Given the description of an element on the screen output the (x, y) to click on. 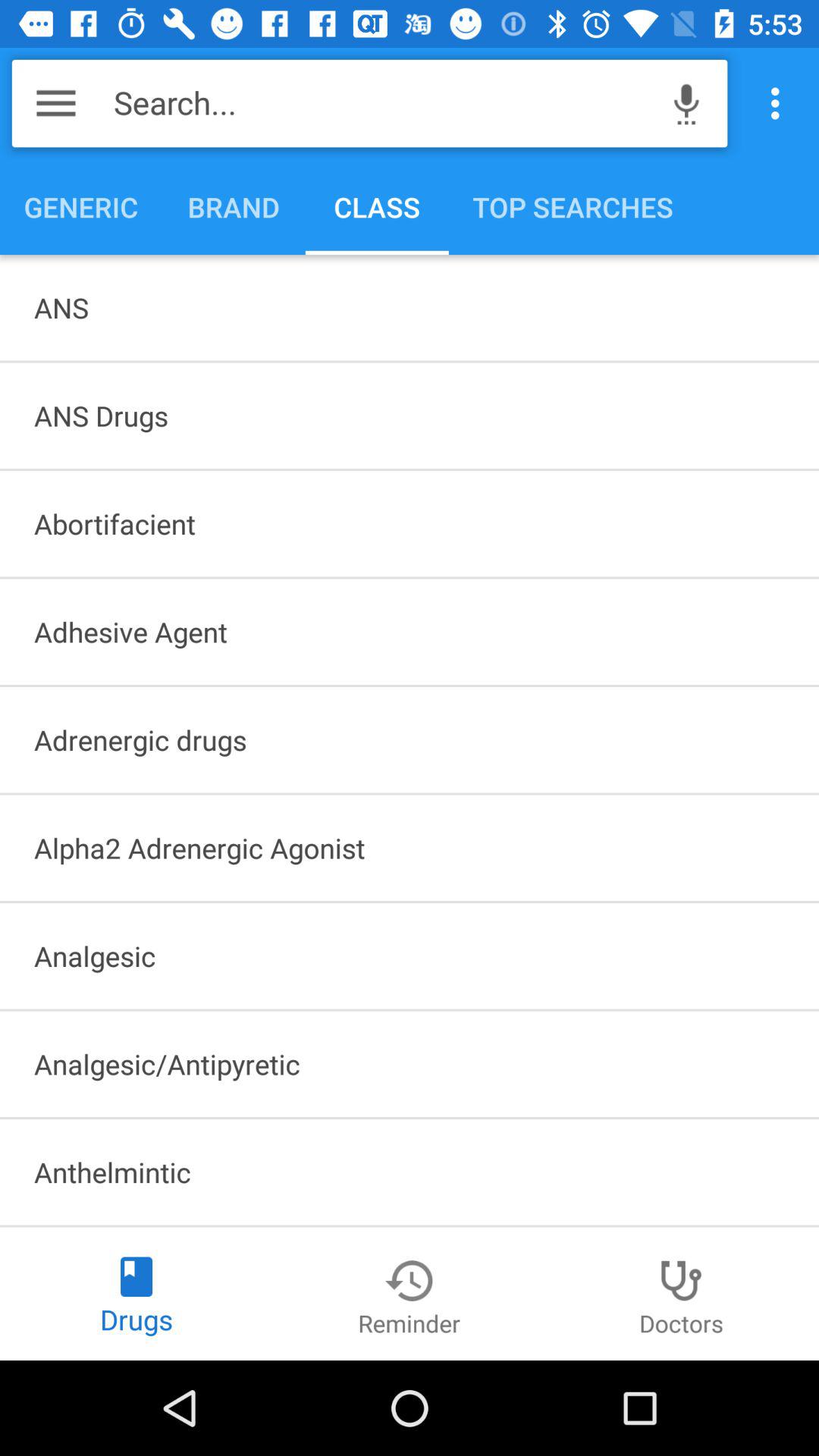
launch the item above generic (383, 103)
